Given the description of an element on the screen output the (x, y) to click on. 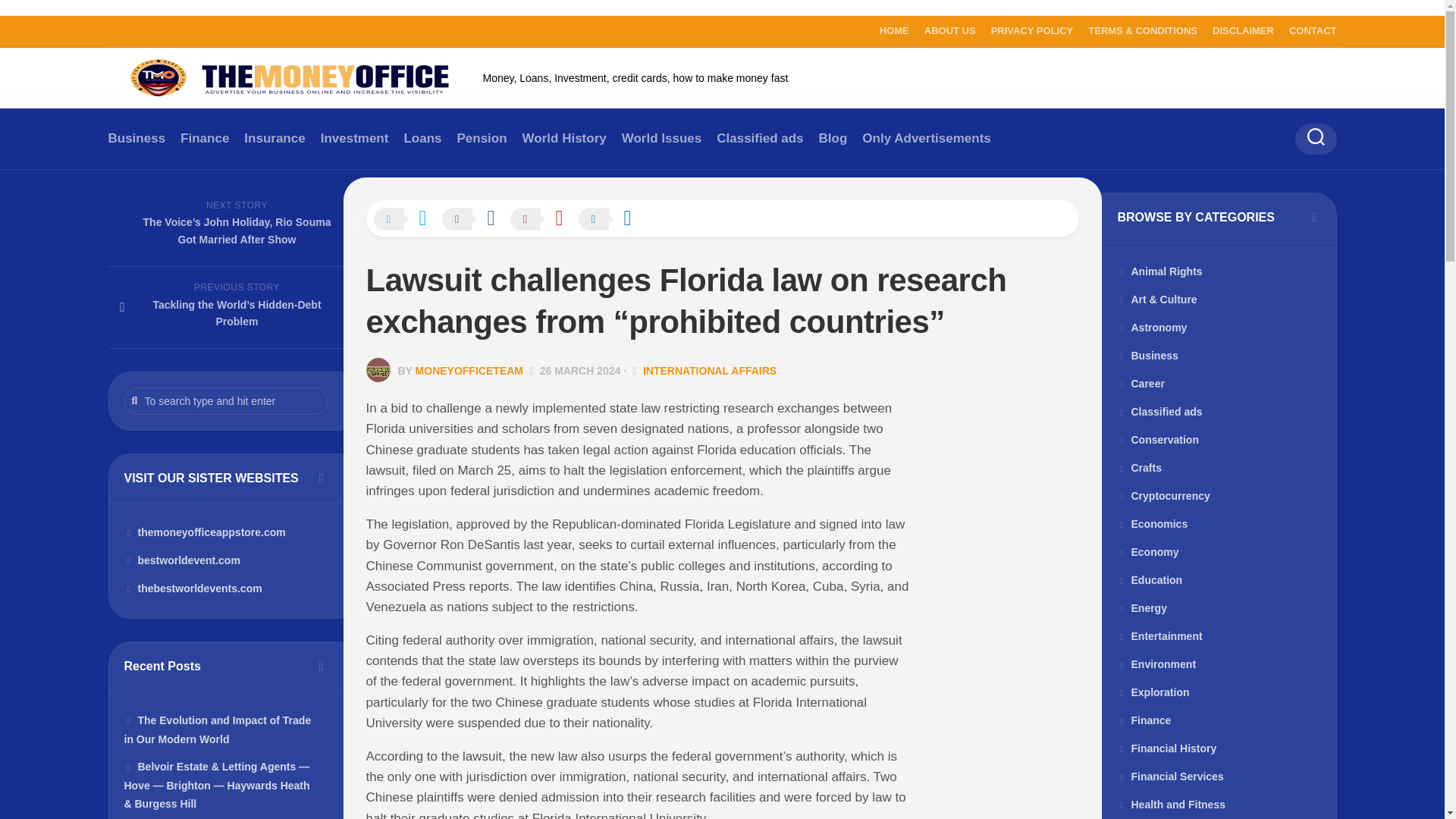
PRIVACY POLICY (1032, 30)
World Issues (661, 138)
Only Advertisements (925, 138)
ABOUT US (949, 30)
Share on LinkedIn (612, 219)
Share on Pinterest (543, 219)
World History (564, 138)
To search type and hit enter (225, 400)
Investment (354, 138)
Blog (832, 138)
